Given the description of an element on the screen output the (x, y) to click on. 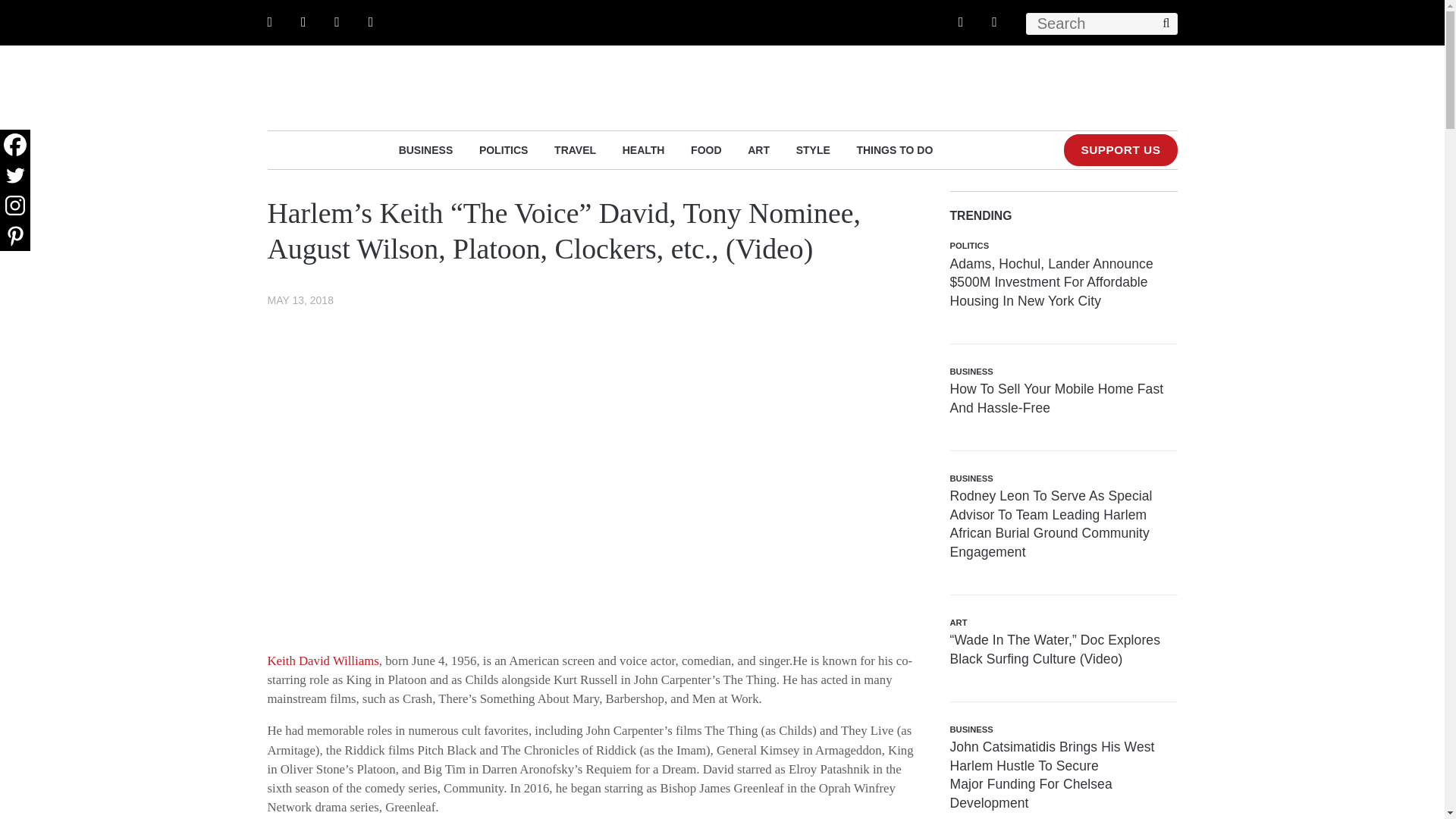
SUPPORT US (1120, 150)
STYLE (812, 149)
Pinterest (15, 235)
BUSINESS (425, 149)
POLITICS (503, 149)
Facebook (15, 144)
Twitter (15, 174)
THINGS TO DO (894, 149)
Keith David Williams (322, 660)
TRAVEL (574, 149)
Instagram (15, 205)
HEALTH (644, 149)
